Given the description of an element on the screen output the (x, y) to click on. 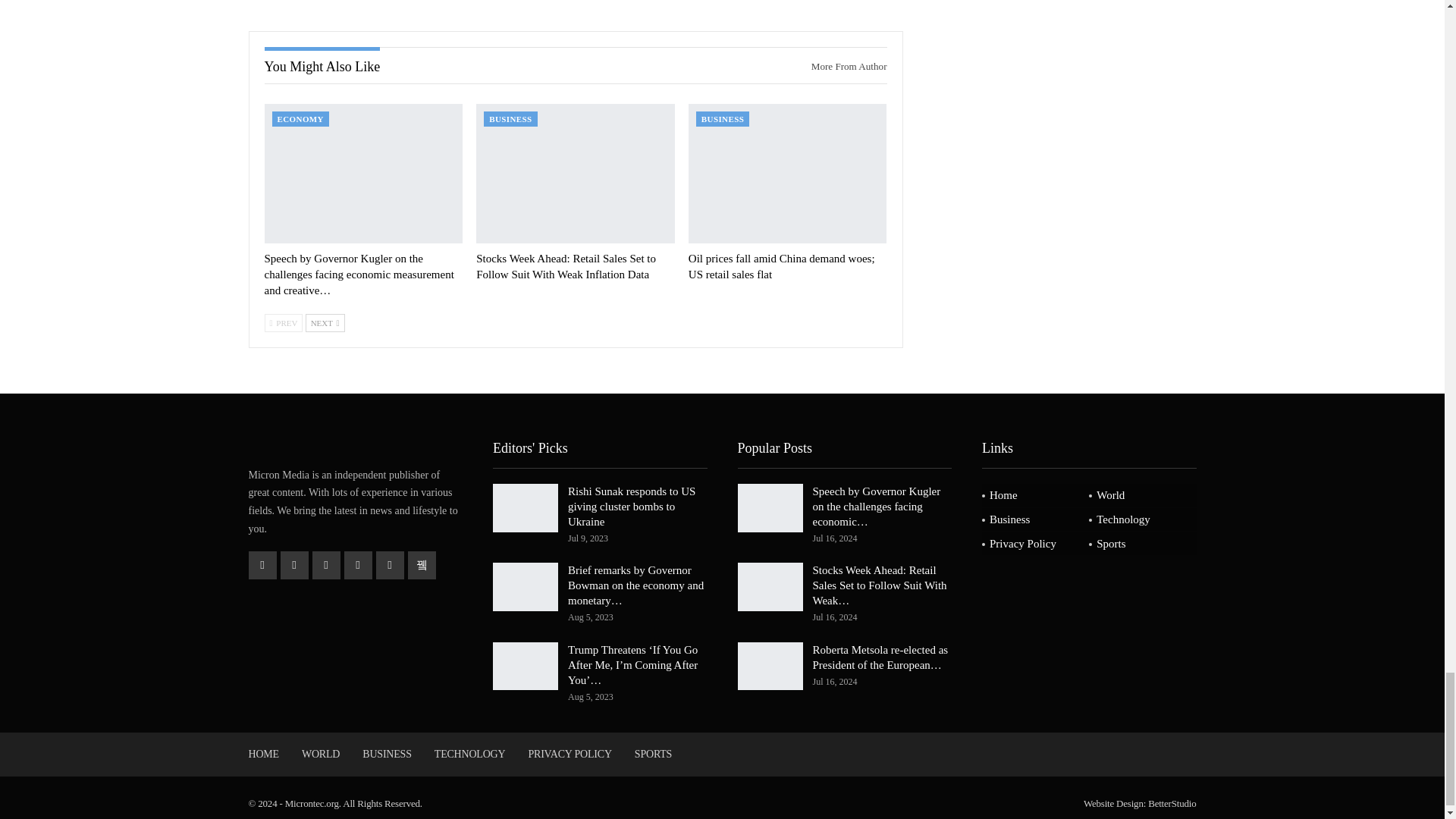
Previous (282, 322)
Oil prices fall amid China demand woes; US retail sales flat (787, 173)
Oil prices fall amid China demand woes; US retail sales flat (781, 266)
Next (325, 322)
